Given the description of an element on the screen output the (x, y) to click on. 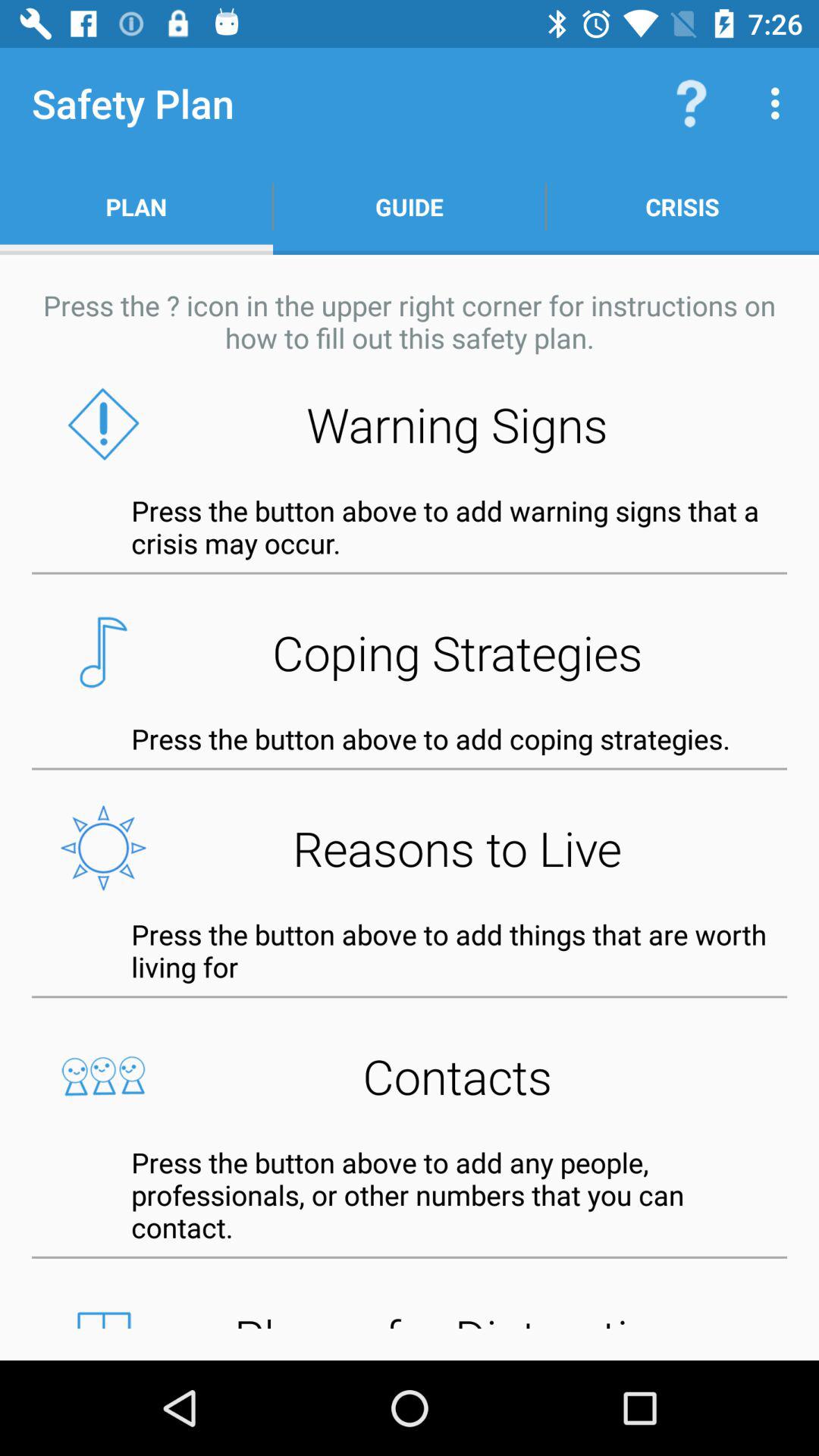
open icon above crisis icon (779, 103)
